Given the description of an element on the screen output the (x, y) to click on. 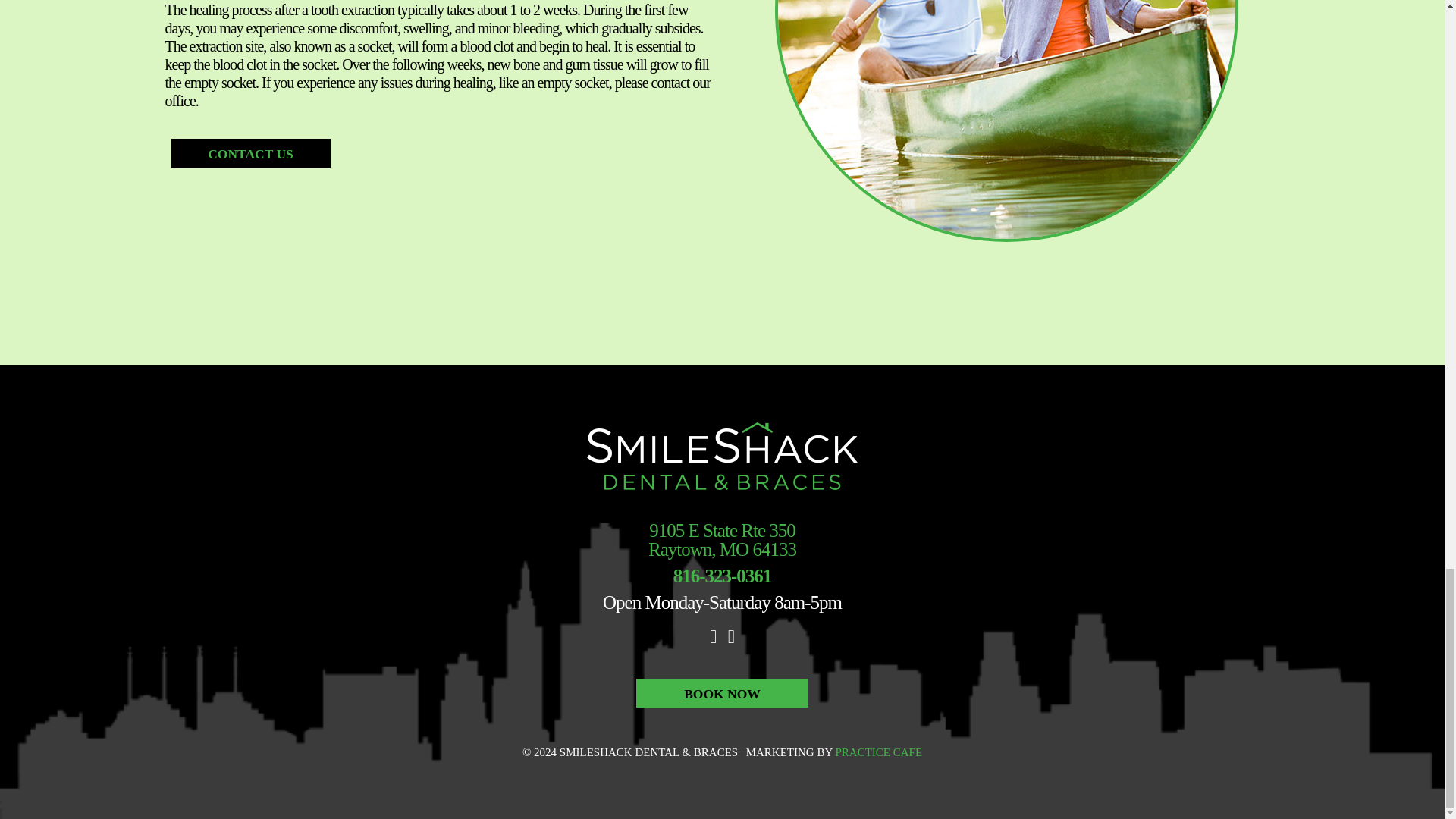
BOOK NOW (722, 692)
PRACTICE CAFE (877, 752)
CONTACT US (721, 539)
816-323-0361 (250, 152)
816-323-0361 (721, 575)
